Given the description of an element on the screen output the (x, y) to click on. 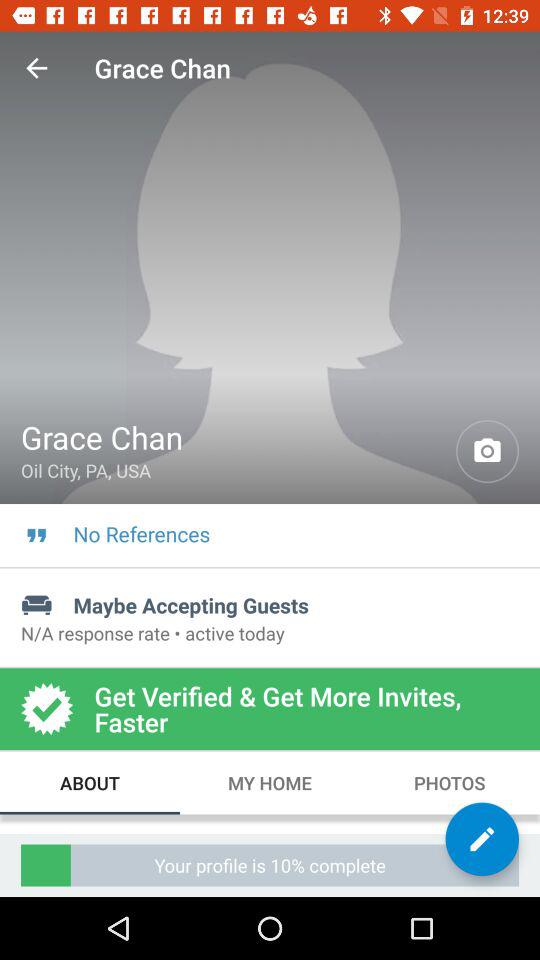
click item below photos icon (482, 839)
